Given the description of an element on the screen output the (x, y) to click on. 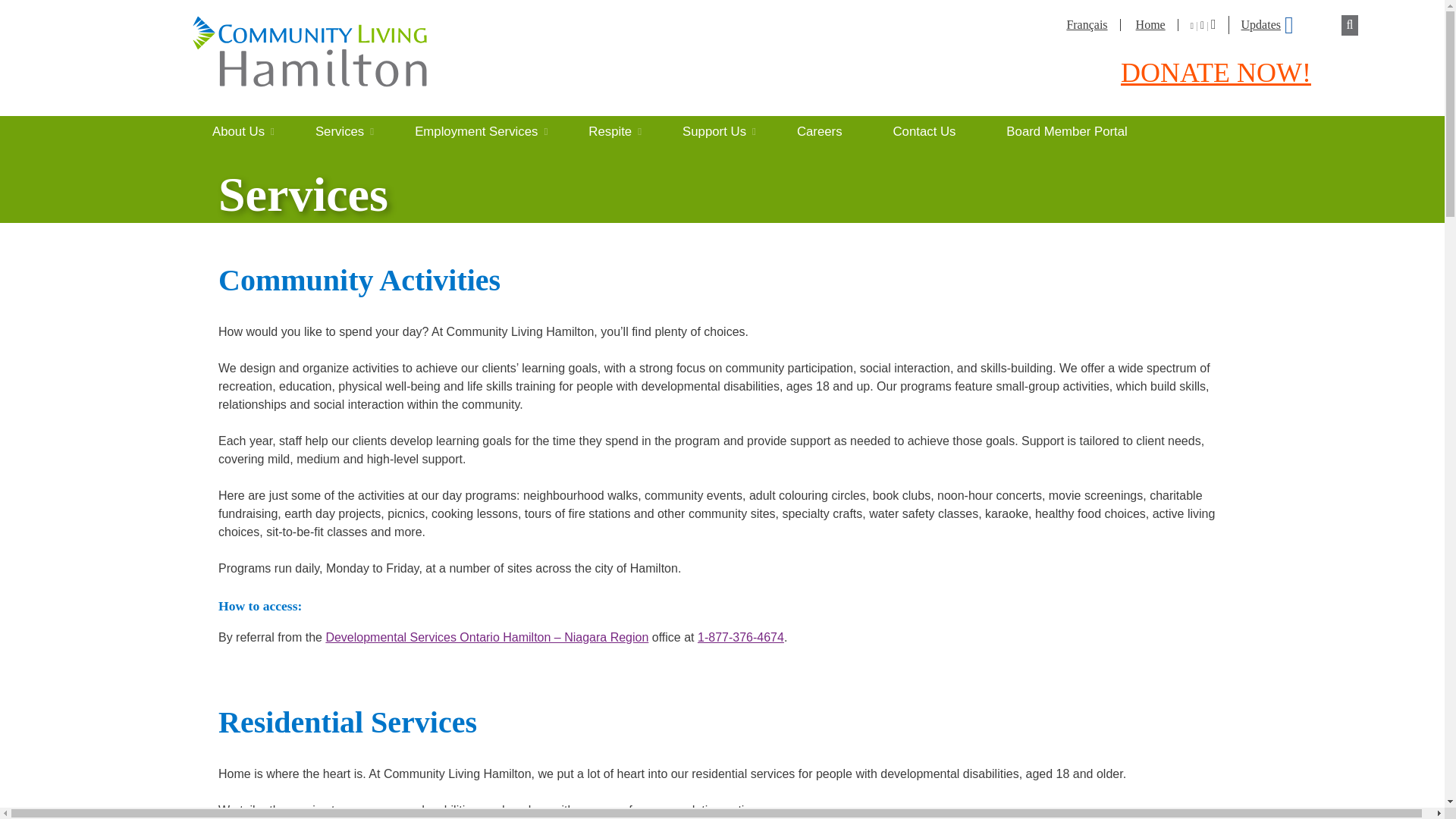
Employment Services (485, 131)
Respite (620, 131)
Services (349, 131)
Search (27, 9)
Home (1150, 24)
About Us (248, 131)
DONATE NOW! (1216, 72)
Updates0 (1263, 24)
